Given the description of an element on the screen output the (x, y) to click on. 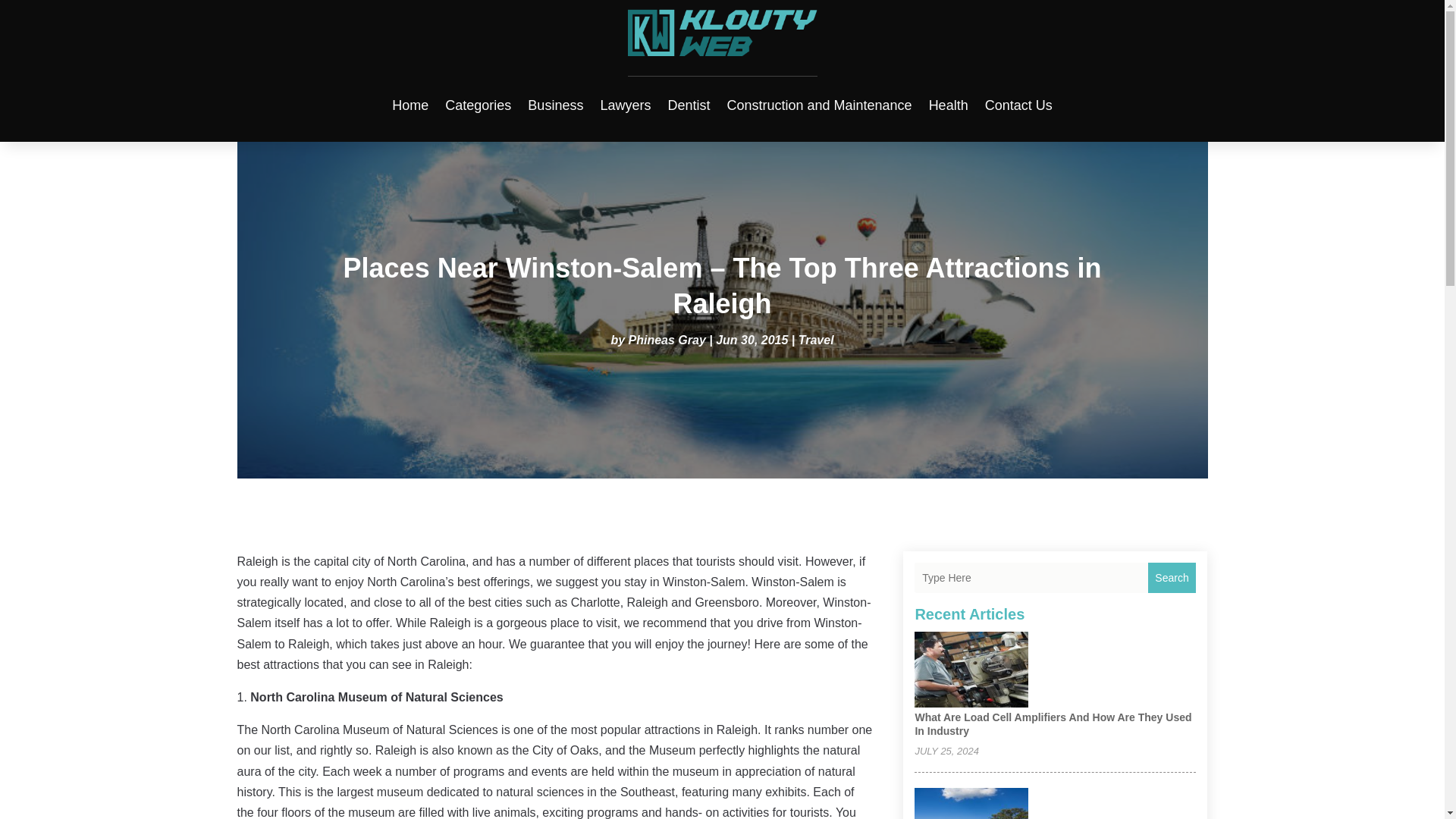
Travel (815, 339)
Contact Us (1018, 105)
Search (1172, 577)
Business (555, 105)
Posts by Phineas Gray (667, 339)
Construction and Maintenance (818, 105)
Phineas Gray (667, 339)
Categories (478, 105)
